Given the description of an element on the screen output the (x, y) to click on. 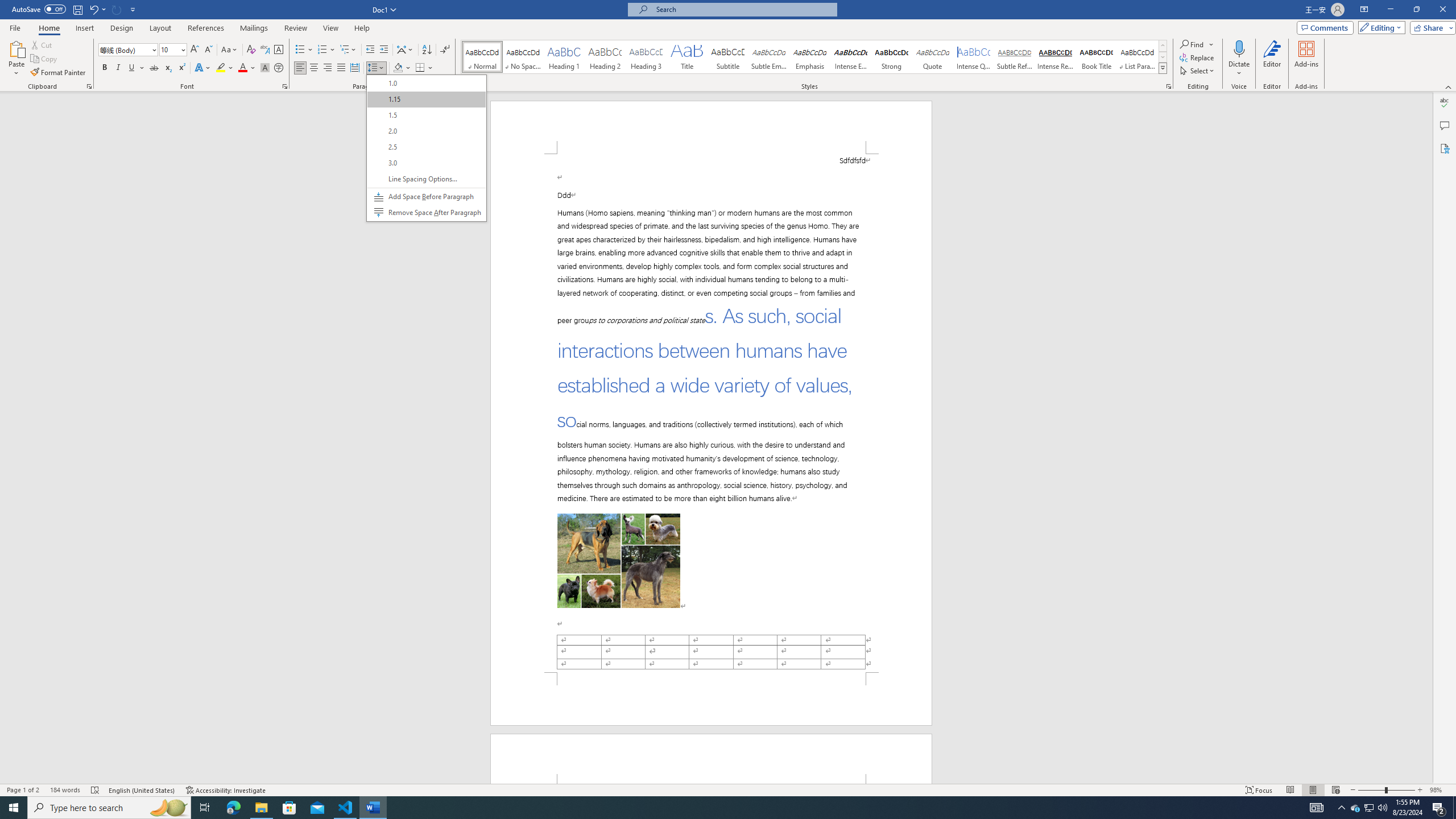
Subtle Emphasis (768, 56)
Heading 1 (564, 56)
Book Title (1095, 56)
Align Right (327, 67)
Character Shading (264, 67)
Microsoft search (742, 9)
